Given the description of an element on the screen output the (x, y) to click on. 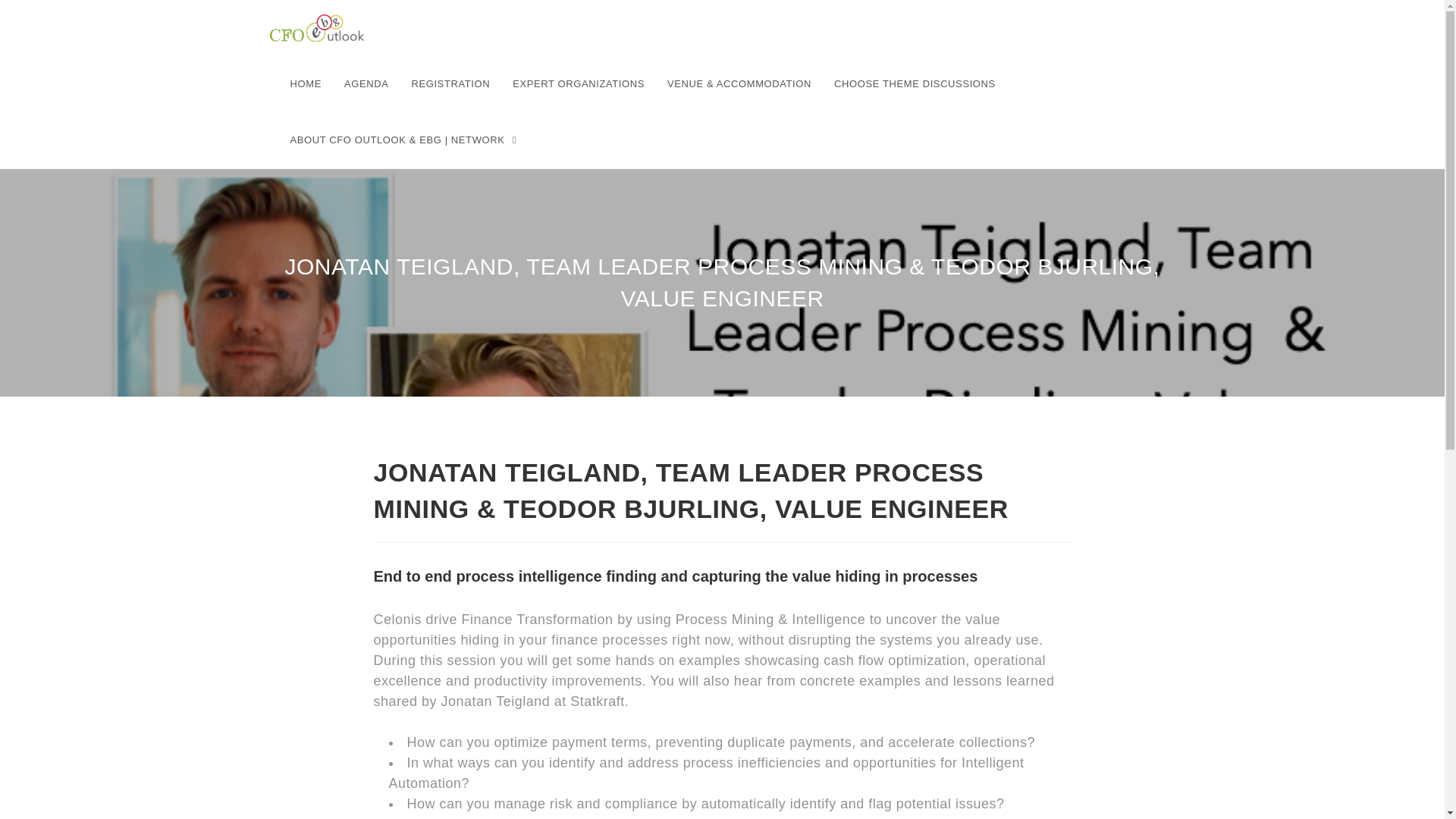
AGENDA (366, 84)
CHOOSE THEME DISCUSSIONS (914, 84)
EXPERT ORGANIZATIONS (578, 84)
REGISTRATION (449, 84)
HOME (306, 84)
